Given the description of an element on the screen output the (x, y) to click on. 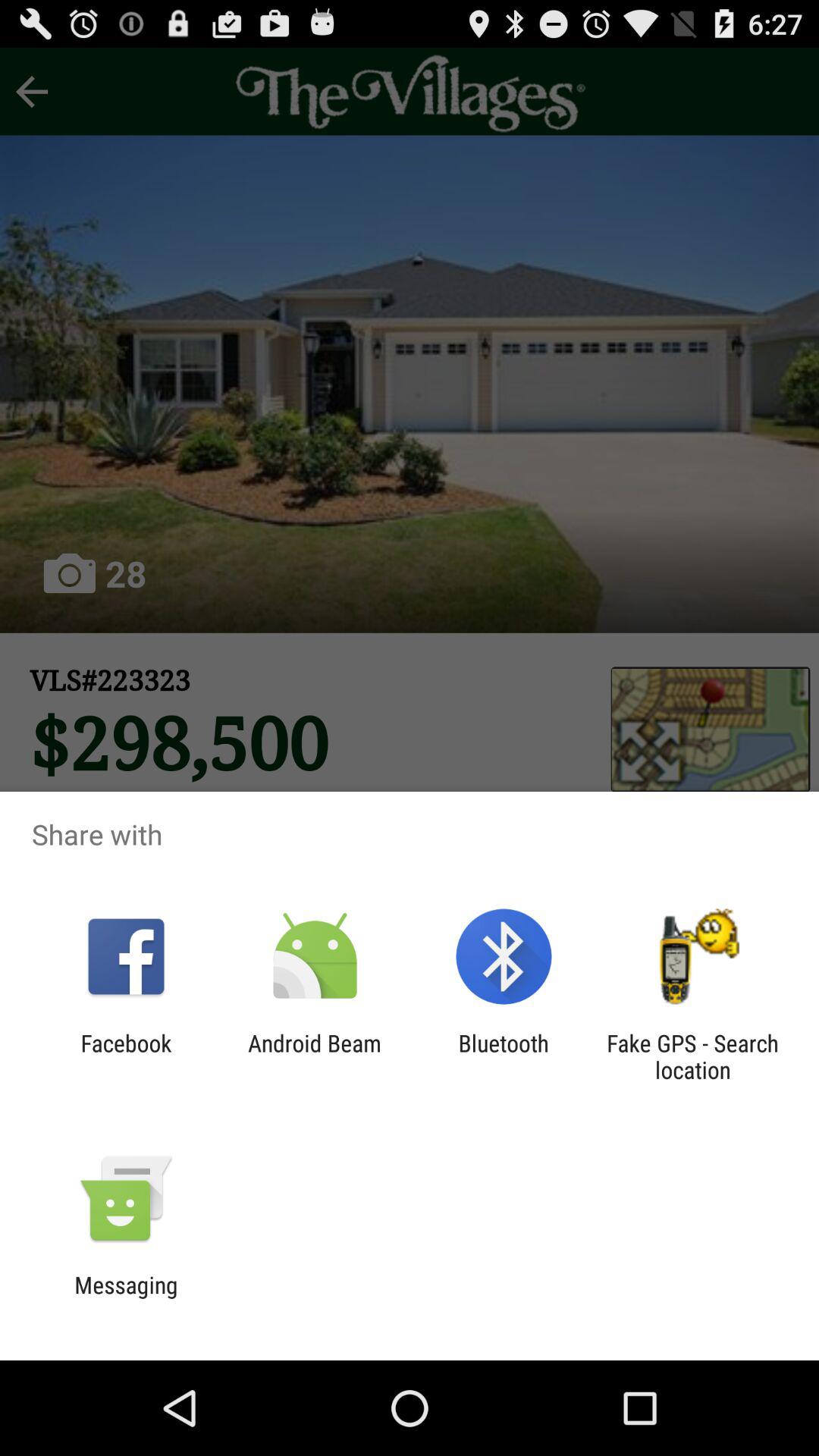
click the app next to bluetooth item (314, 1056)
